Given the description of an element on the screen output the (x, y) to click on. 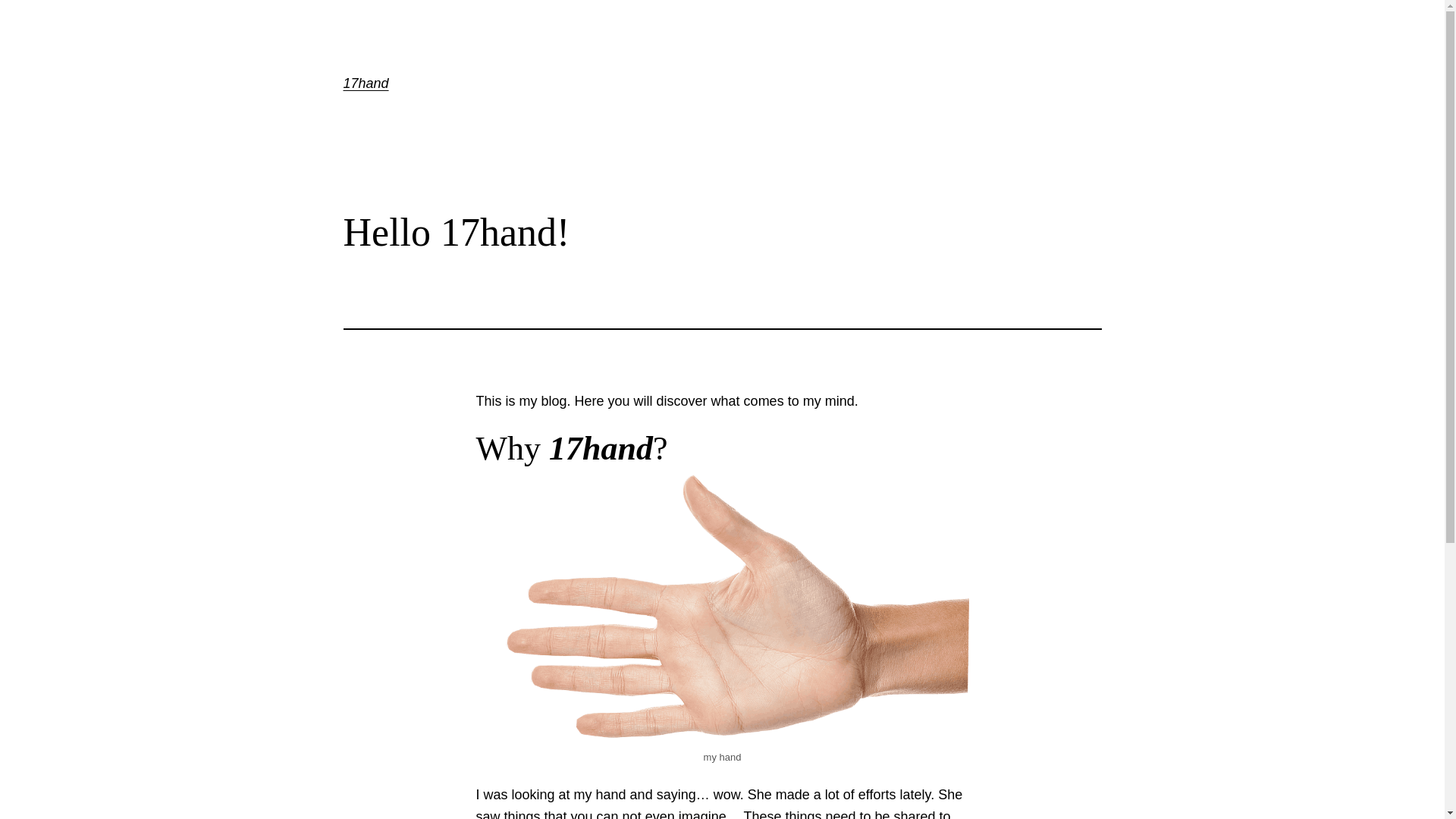
17hand Element type: text (365, 83)
